Given the description of an element on the screen output the (x, y) to click on. 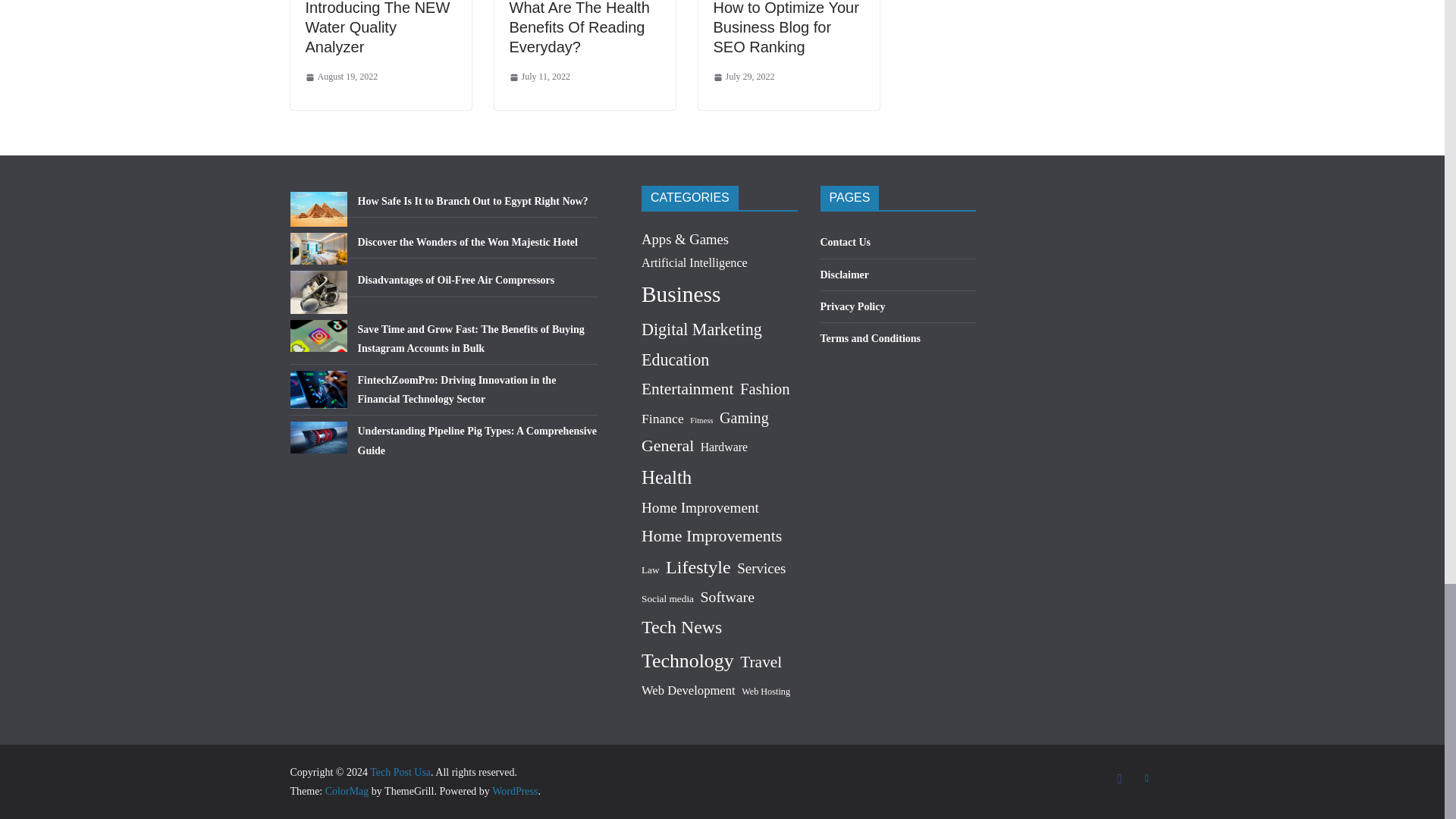
4:52 PM (340, 76)
August 19, 2022 (340, 76)
Introducing The NEW Water Quality Analyzer (376, 27)
6:43 PM (539, 76)
What Are The Health Benefits Of Reading Everyday? (579, 27)
Introducing The NEW Water Quality Analyzer (376, 27)
